Given the description of an element on the screen output the (x, y) to click on. 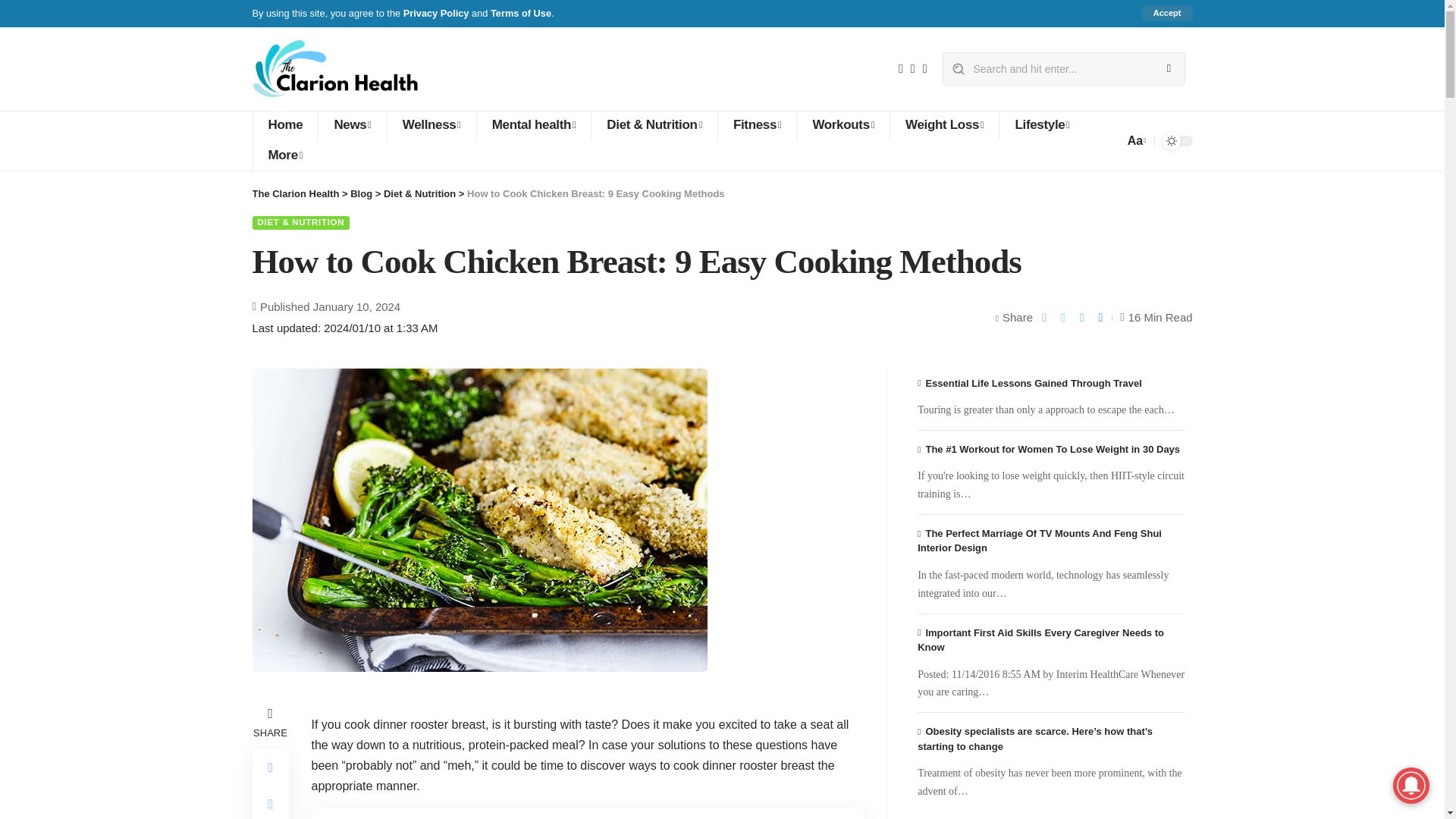
Mental health (533, 125)
News (351, 125)
Privacy Policy (435, 12)
Wellness (431, 125)
The Clarion Health (335, 68)
Terms of Use (520, 12)
Search (1168, 69)
Accept (1166, 12)
Home (284, 125)
